Given the description of an element on the screen output the (x, y) to click on. 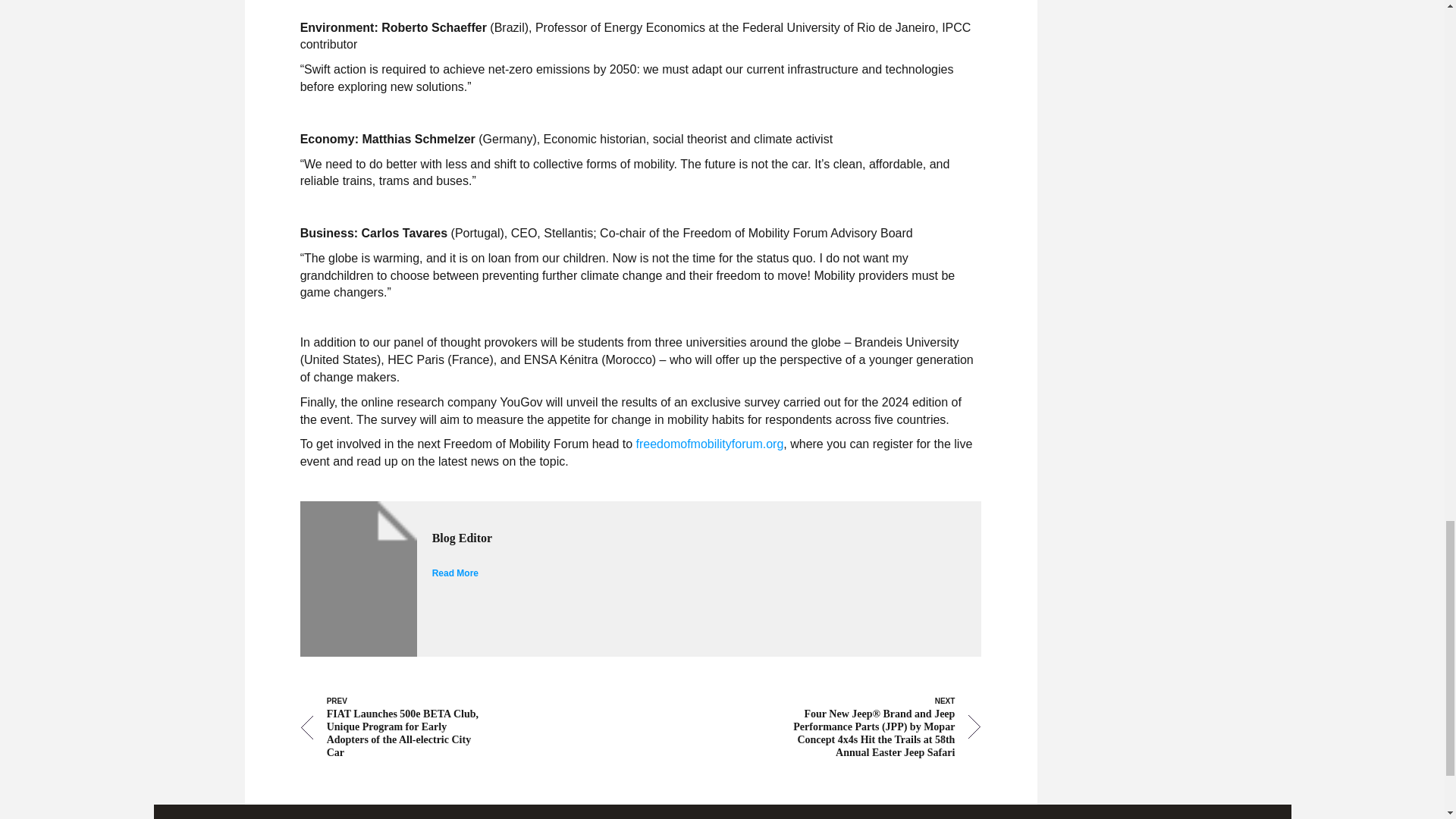
freedomofmobilityforum.org (710, 443)
Blog Editor (682, 538)
Read More (455, 573)
